Given the description of an element on the screen output the (x, y) to click on. 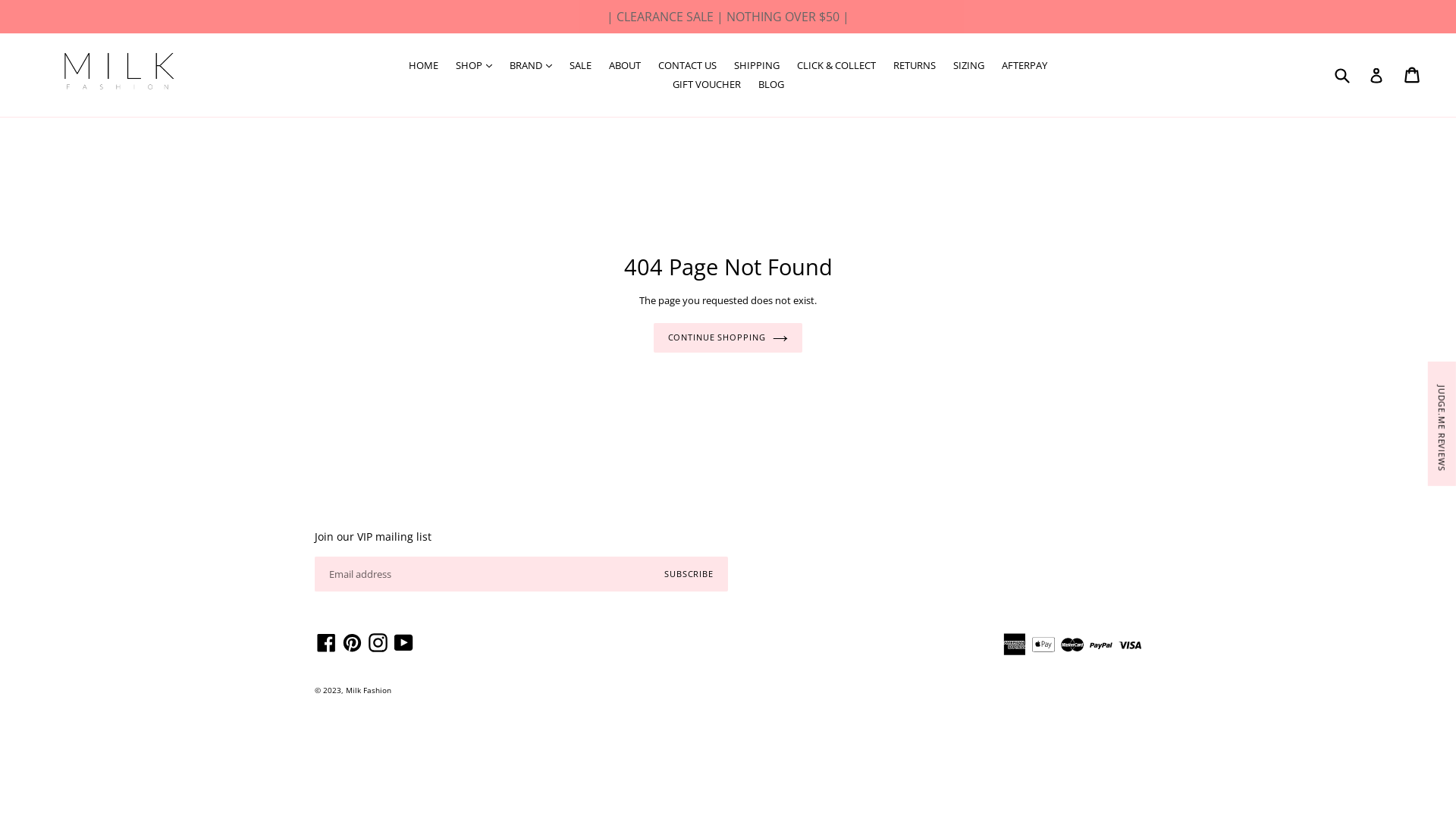
Facebook Element type: text (326, 642)
SHIPPING Element type: text (756, 65)
CLICK & COLLECT Element type: text (836, 65)
ABOUT Element type: text (624, 65)
RETURNS Element type: text (914, 65)
Milk Fashion Element type: text (368, 689)
CONTINUE SHOPPING Element type: text (728, 337)
CONTACT US Element type: text (687, 65)
GIFT VOUCHER Element type: text (705, 84)
Cart
Cart Element type: text (1412, 74)
SALE Element type: text (580, 65)
BLOG Element type: text (770, 84)
AFTERPAY Element type: text (1024, 65)
Submit Element type: text (1341, 74)
Log in Element type: text (1375, 75)
HOME Element type: text (423, 65)
SUBSCRIBE Element type: text (688, 573)
Pinterest Element type: text (352, 642)
SIZING Element type: text (968, 65)
YouTube Element type: text (403, 642)
Instagram Element type: text (377, 642)
